Given the description of an element on the screen output the (x, y) to click on. 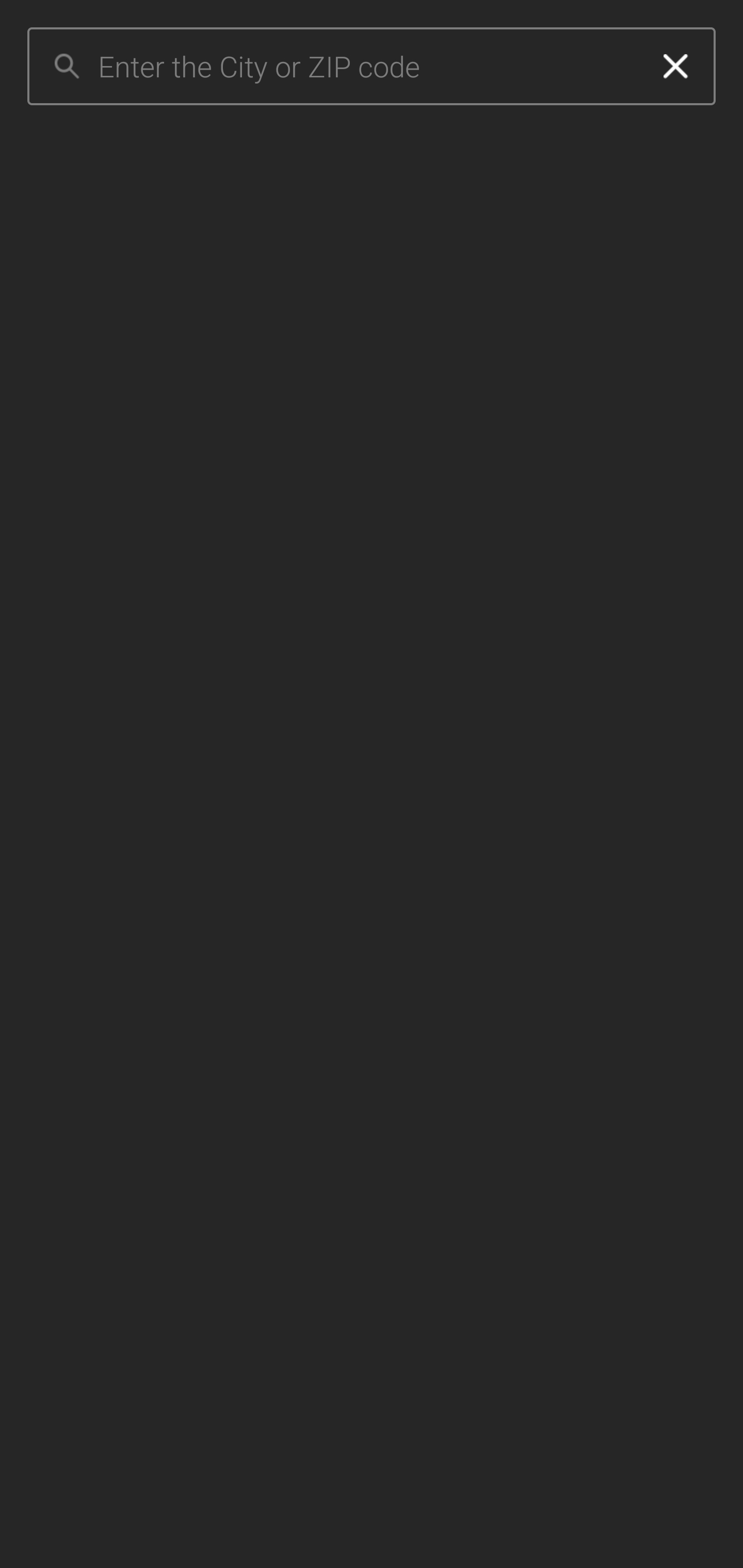
Enter the City or ZIP code (367, 66)
